Given the description of an element on the screen output the (x, y) to click on. 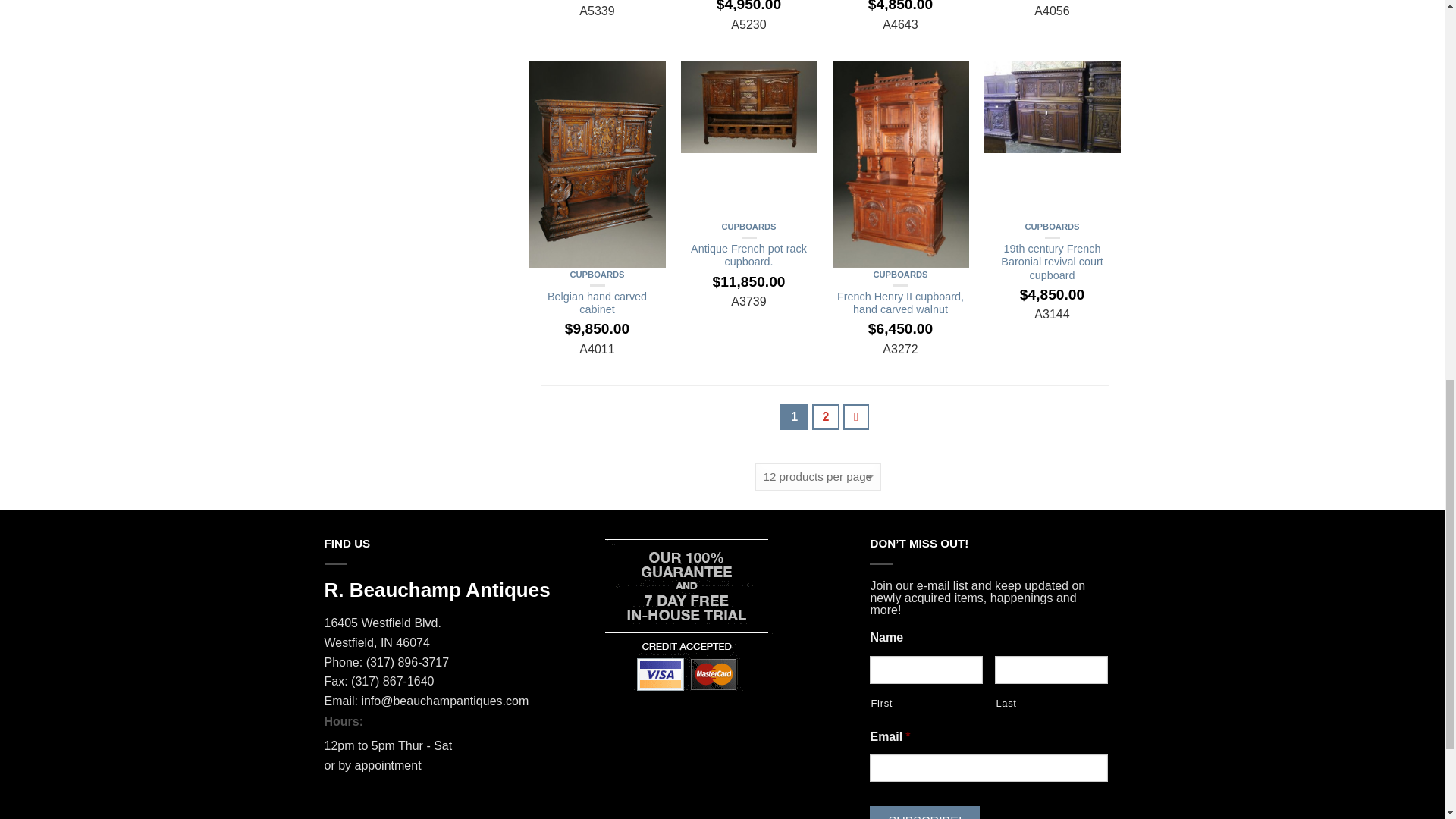
Subscribe! (924, 812)
